Given the description of an element on the screen output the (x, y) to click on. 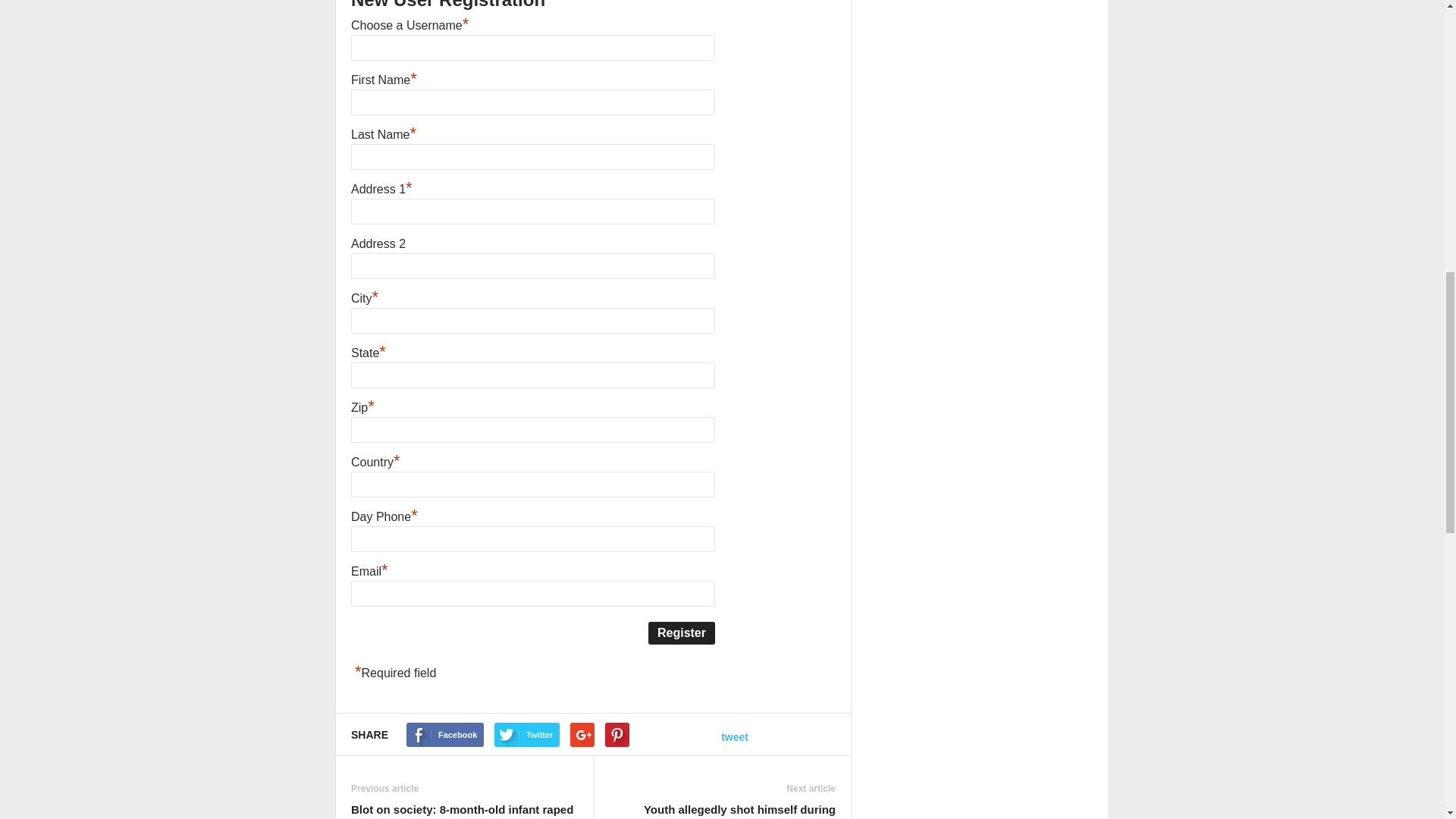
Register (680, 632)
